Given the description of an element on the screen output the (x, y) to click on. 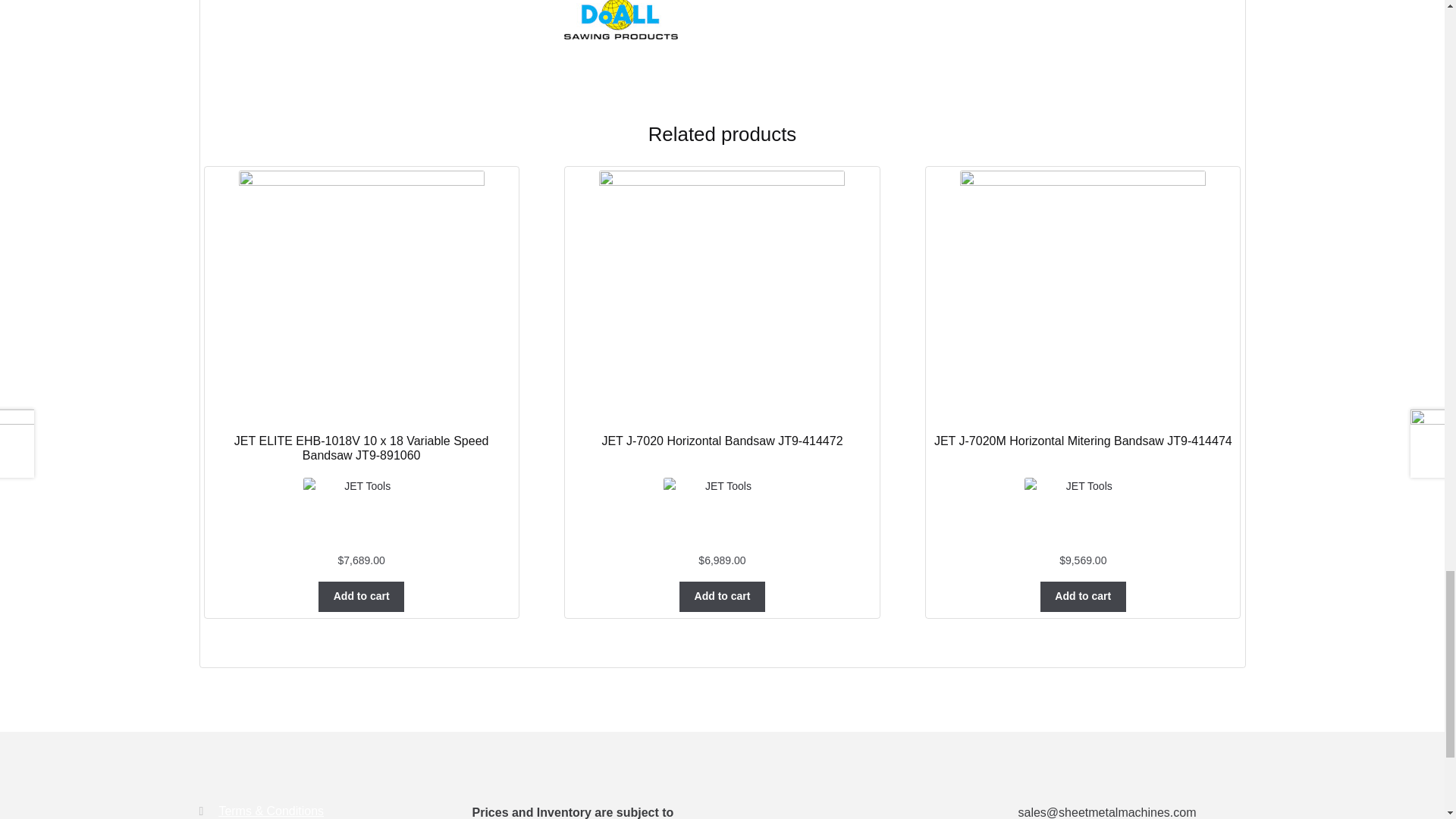
DoAll (902, 22)
